Given the description of an element on the screen output the (x, y) to click on. 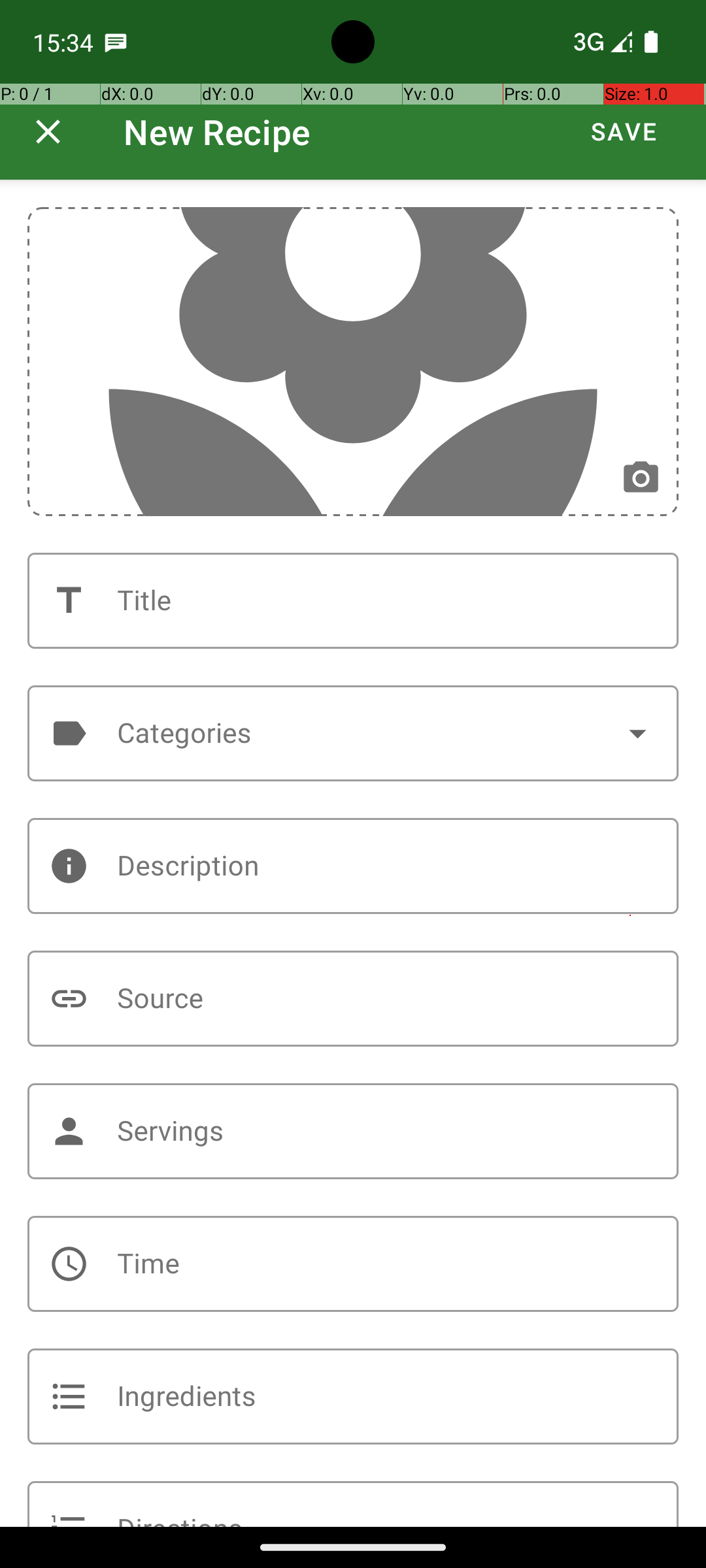
Change photo Element type: android.widget.ImageView (640, 478)
Title Element type: android.widget.EditText (352, 600)
Description Element type: android.widget.EditText (352, 865)
Source Element type: android.widget.EditText (352, 998)
